Given the description of an element on the screen output the (x, y) to click on. 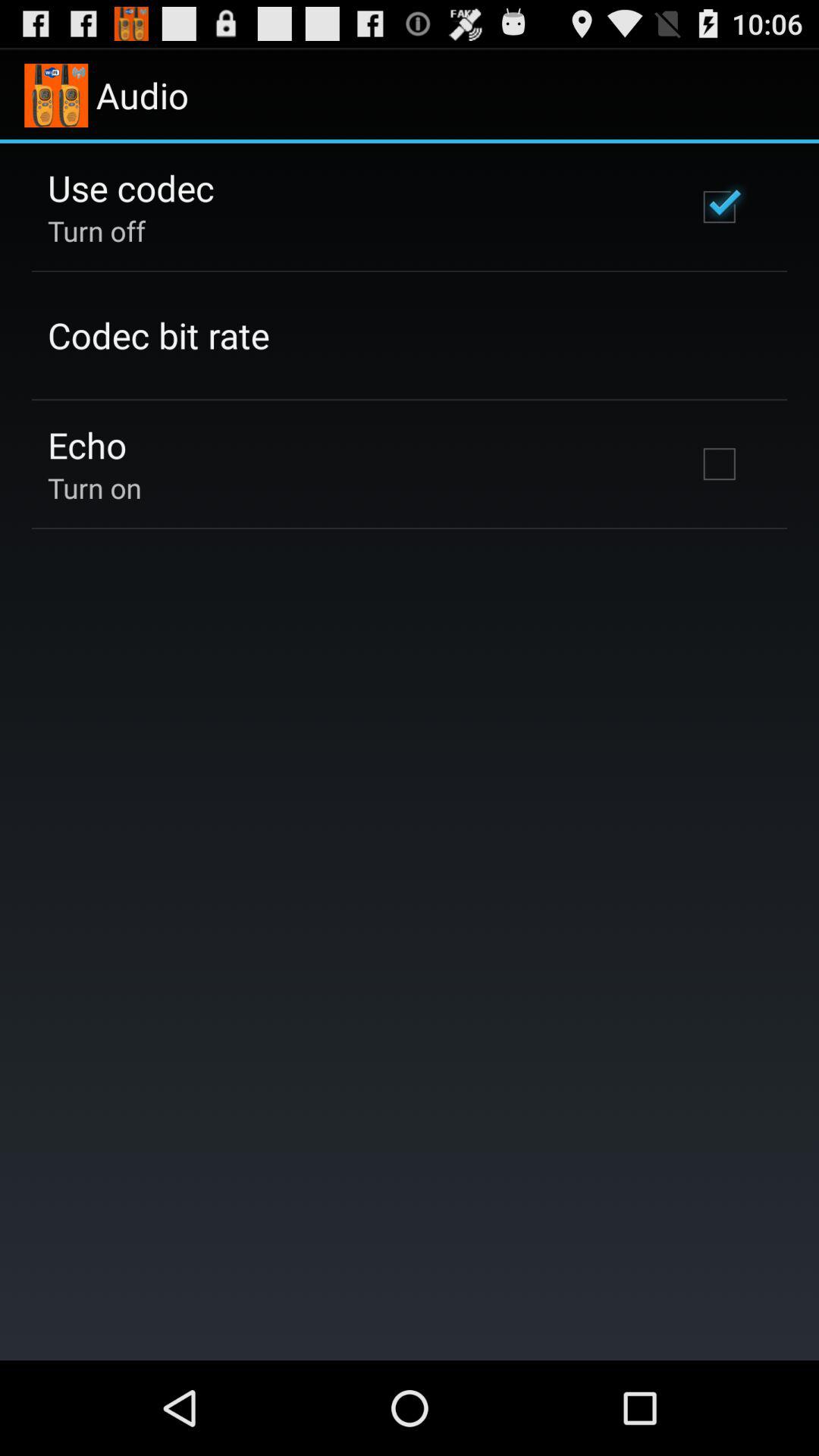
click the codec bit rate item (158, 335)
